Given the description of an element on the screen output the (x, y) to click on. 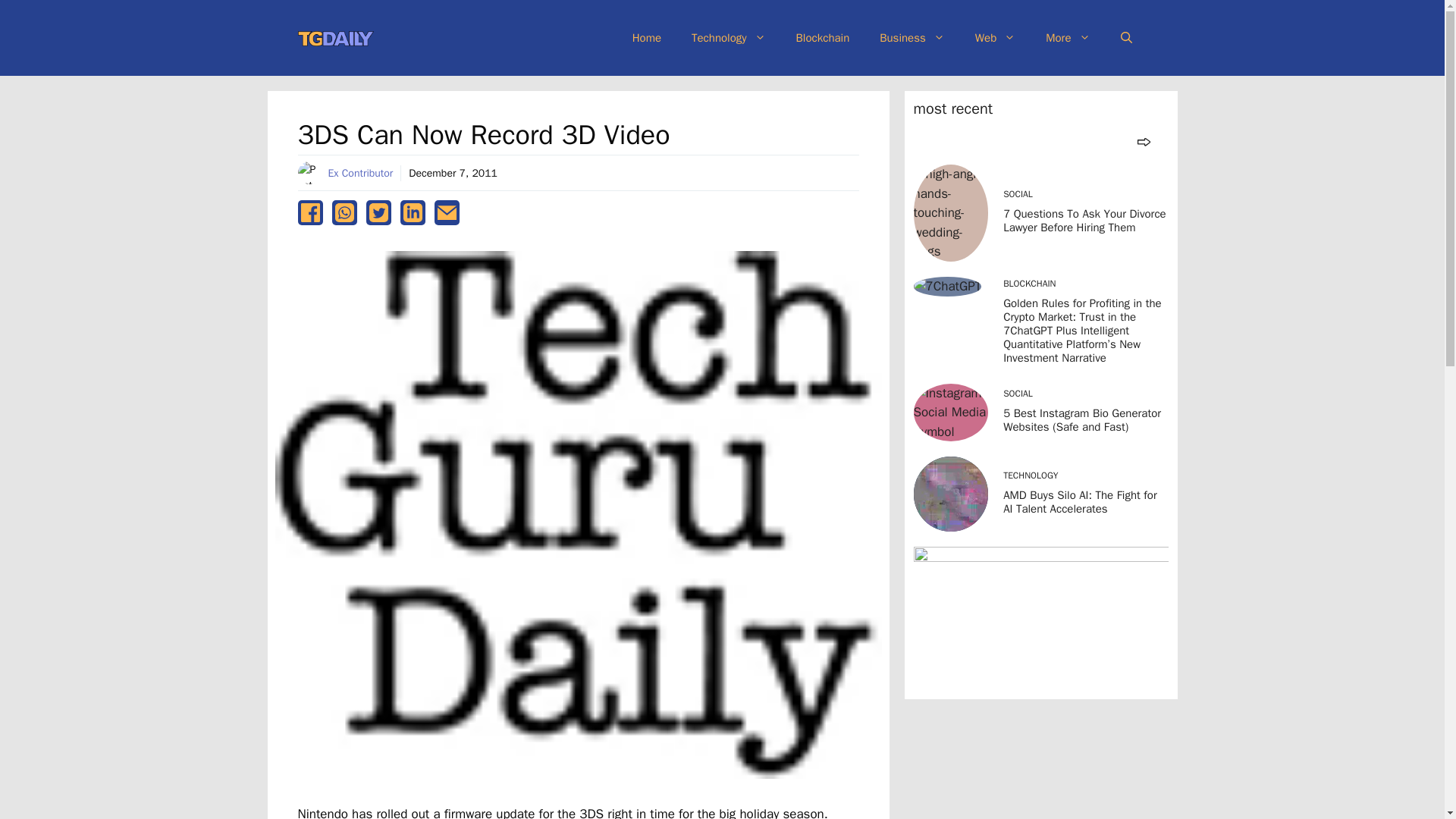
Business (911, 37)
Technology (728, 37)
purple-600x400-1 (1039, 618)
Blockchain (822, 37)
More (1067, 37)
Home (647, 37)
Web (994, 37)
